Given the description of an element on the screen output the (x, y) to click on. 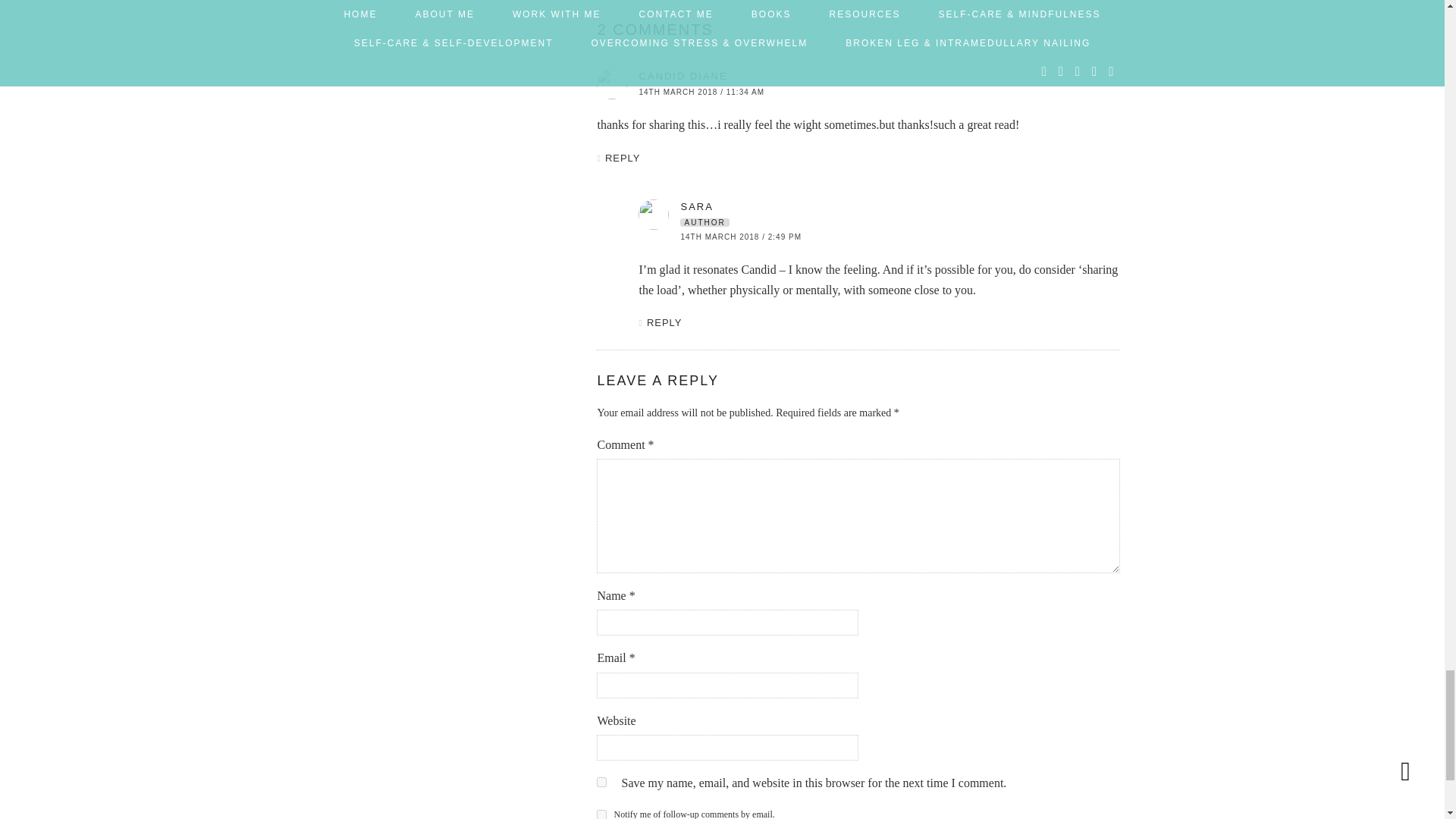
yes (601, 782)
subscribe (601, 814)
